Given the description of an element on the screen output the (x, y) to click on. 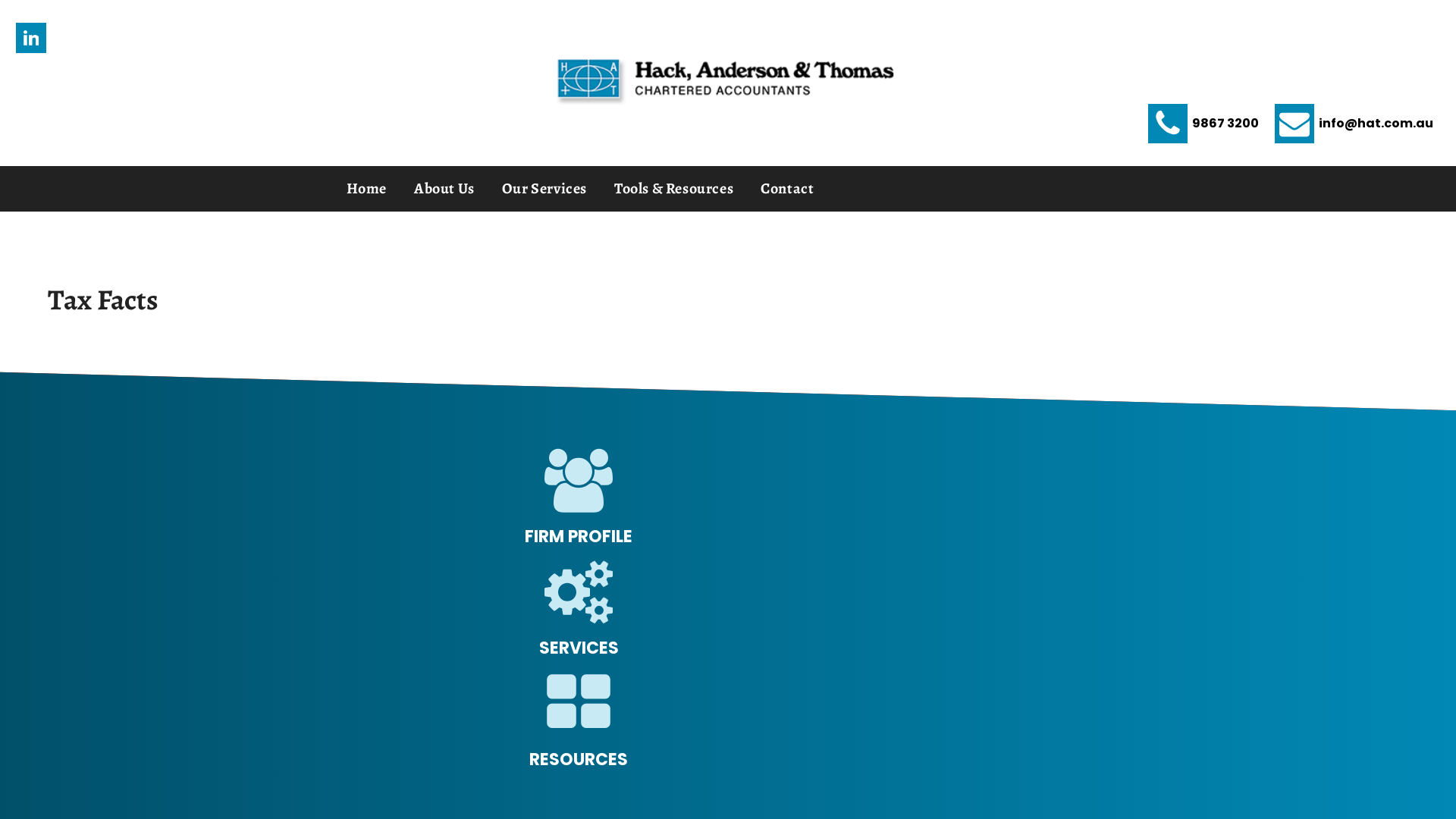
About Us Element type: text (444, 188)
SERVICES Element type: text (578, 647)
Contact Element type: text (786, 188)
Our Services Element type: text (544, 188)
9867 3200 Element type: text (1203, 122)
info@hat.com.au Element type: text (1353, 122)
Tools & Resources Element type: text (673, 188)
RESOURCES Element type: text (579, 759)
FIRM PROFILE Element type: text (579, 536)
Home Element type: text (366, 188)
